Given the description of an element on the screen output the (x, y) to click on. 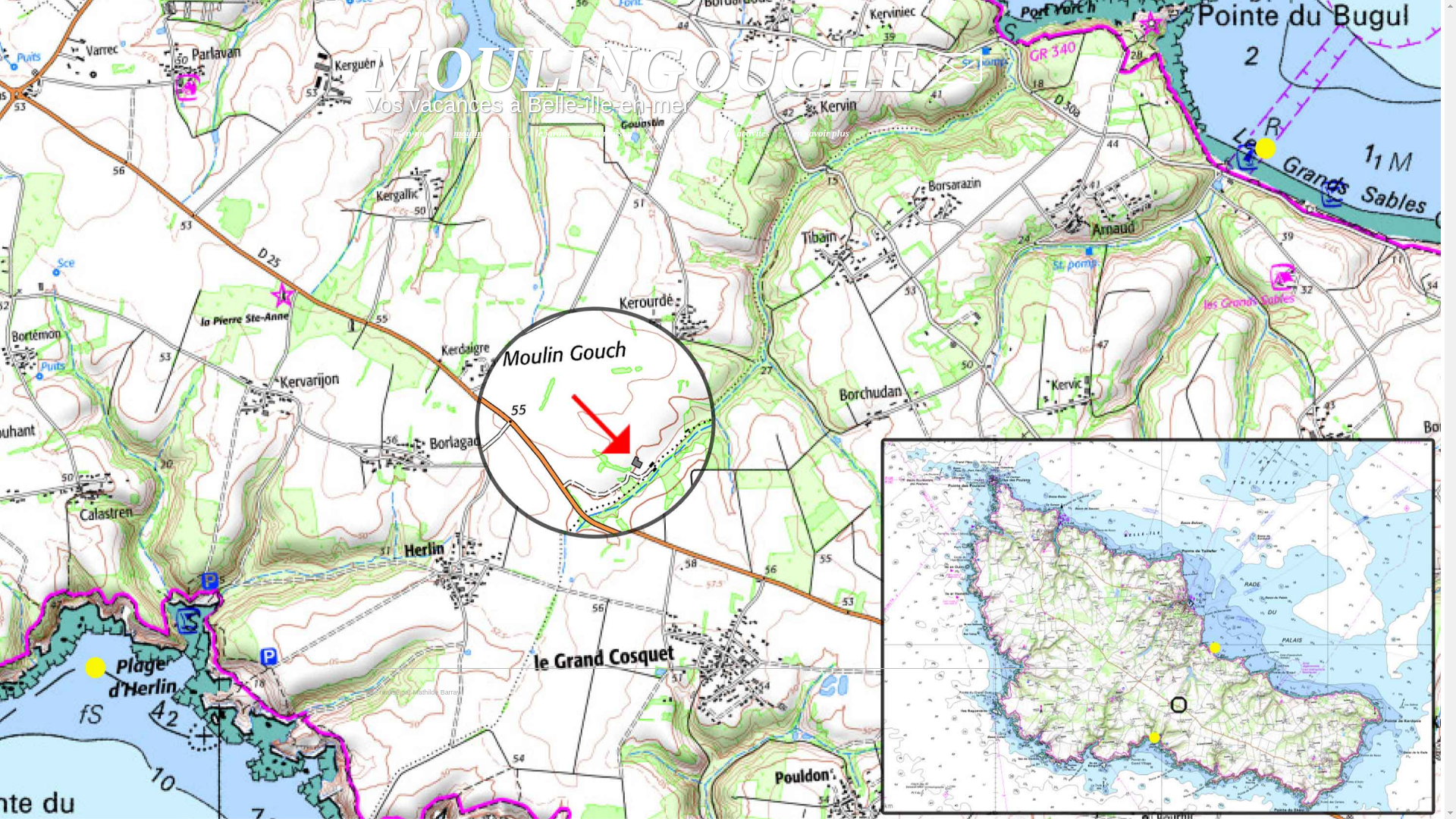
moulingouche Element type: text (482, 133)
les prestations Element type: text (684, 133)
en savoir plus Element type: text (820, 133)
Contact Element type: hover (958, 67)
MOULINGOUCHE Element type: text (642, 68)
la maison Element type: text (612, 133)
le jardin Element type: text (552, 133)
